Given the description of an element on the screen output the (x, y) to click on. 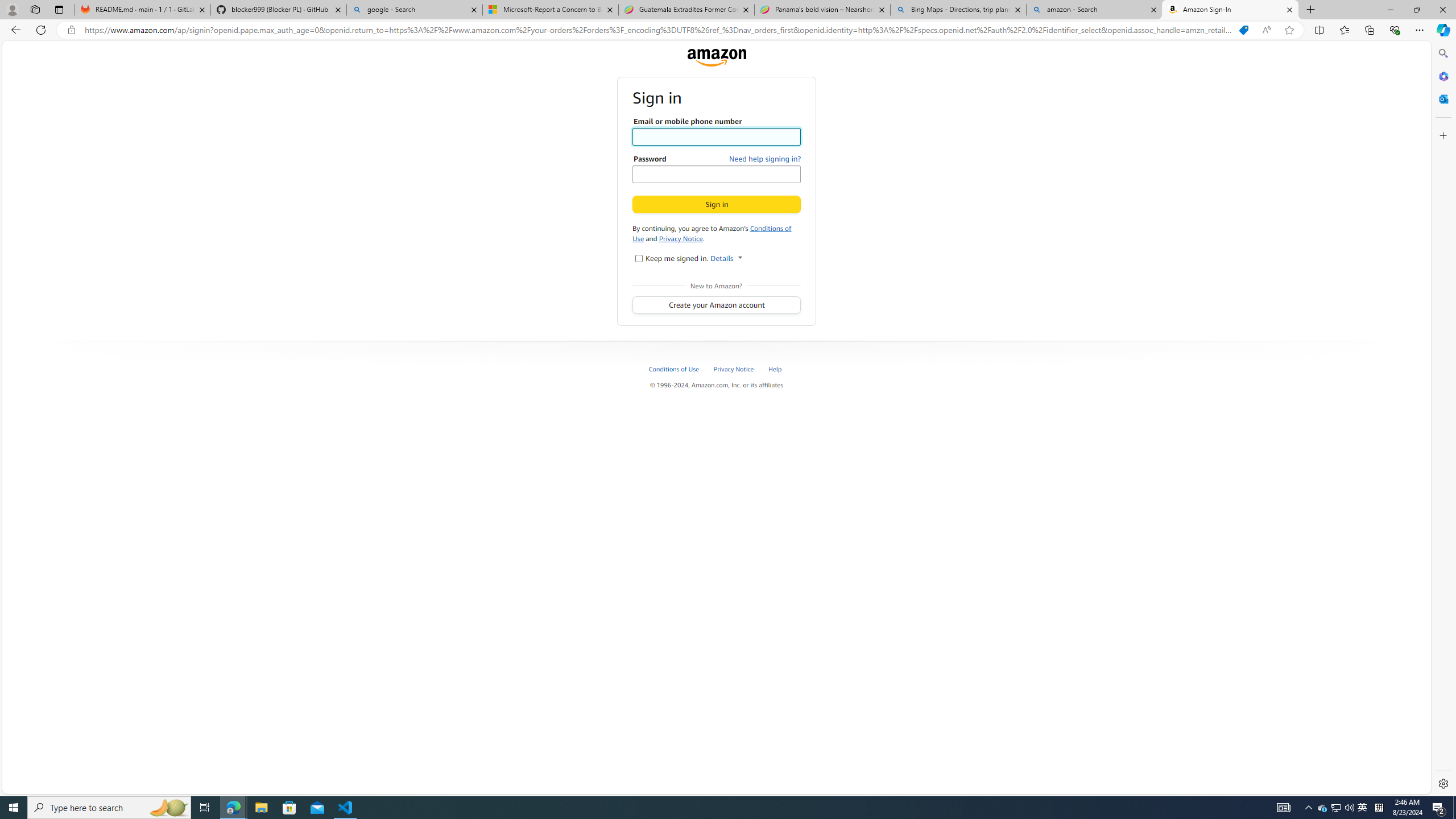
Need help signing in? (764, 158)
Conditions of Use  (673, 368)
Privacy Notice (680, 238)
